Given the description of an element on the screen output the (x, y) to click on. 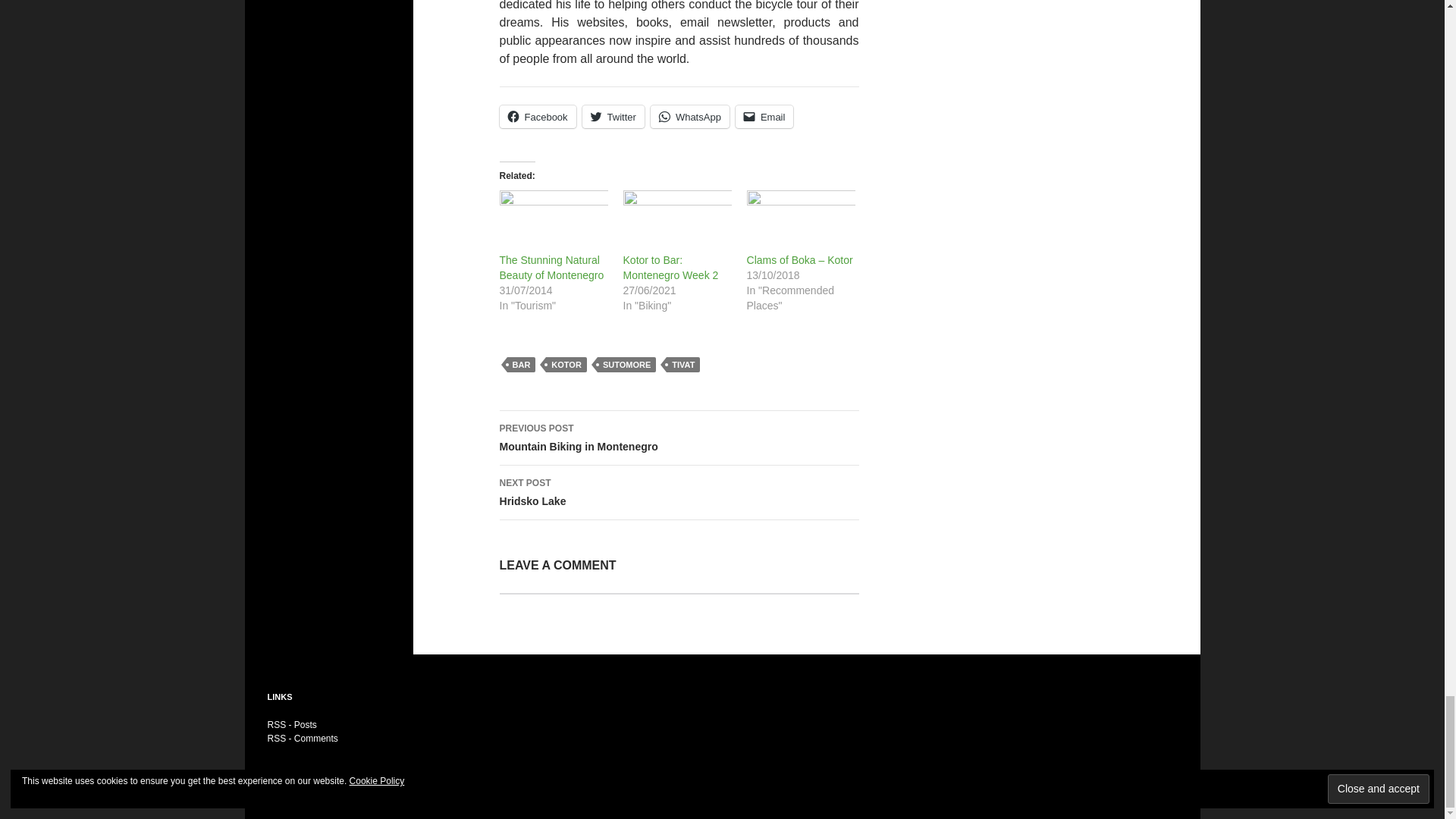
Click to email a link to a friend (764, 116)
Click to share on Twitter (613, 116)
Click to share on WhatsApp (689, 116)
The Stunning Natural Beauty of Montenegro (551, 267)
Kotor to Bar: Montenegro Week 2 (677, 221)
Click to share on Facebook (537, 116)
The Stunning Natural Beauty of Montenegro (553, 221)
